Given the description of an element on the screen output the (x, y) to click on. 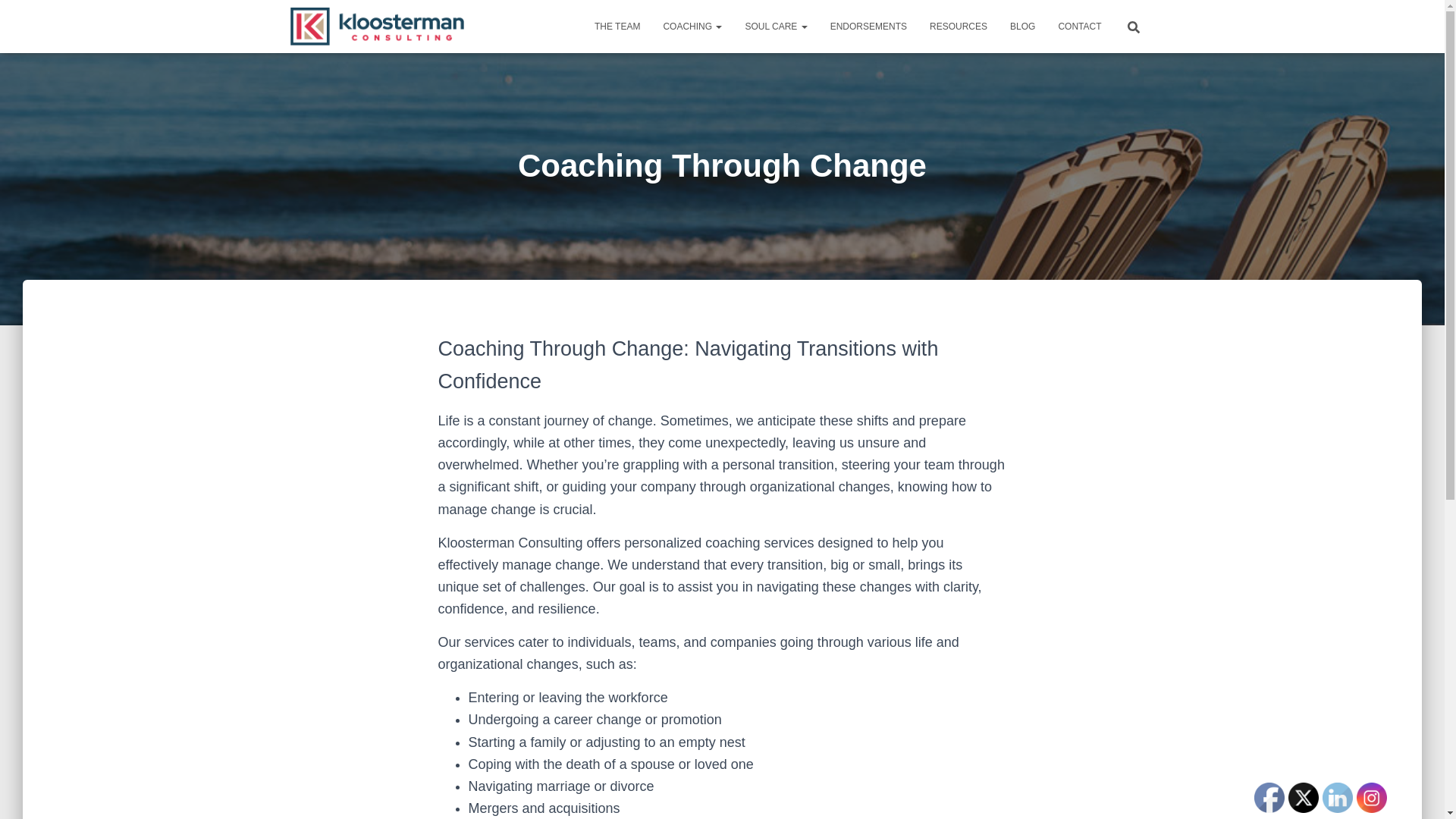
The Team (616, 26)
Blog (1022, 26)
BLOG (1022, 26)
Coaching (691, 26)
Resources (958, 26)
Search (3, 16)
Endorsements (868, 26)
COACHING (691, 26)
Soul Care (775, 26)
CONTACT (1079, 26)
Facebook (1268, 797)
SOUL CARE (775, 26)
Contact (1079, 26)
ENDORSEMENTS (868, 26)
THE TEAM (616, 26)
